Given the description of an element on the screen output the (x, y) to click on. 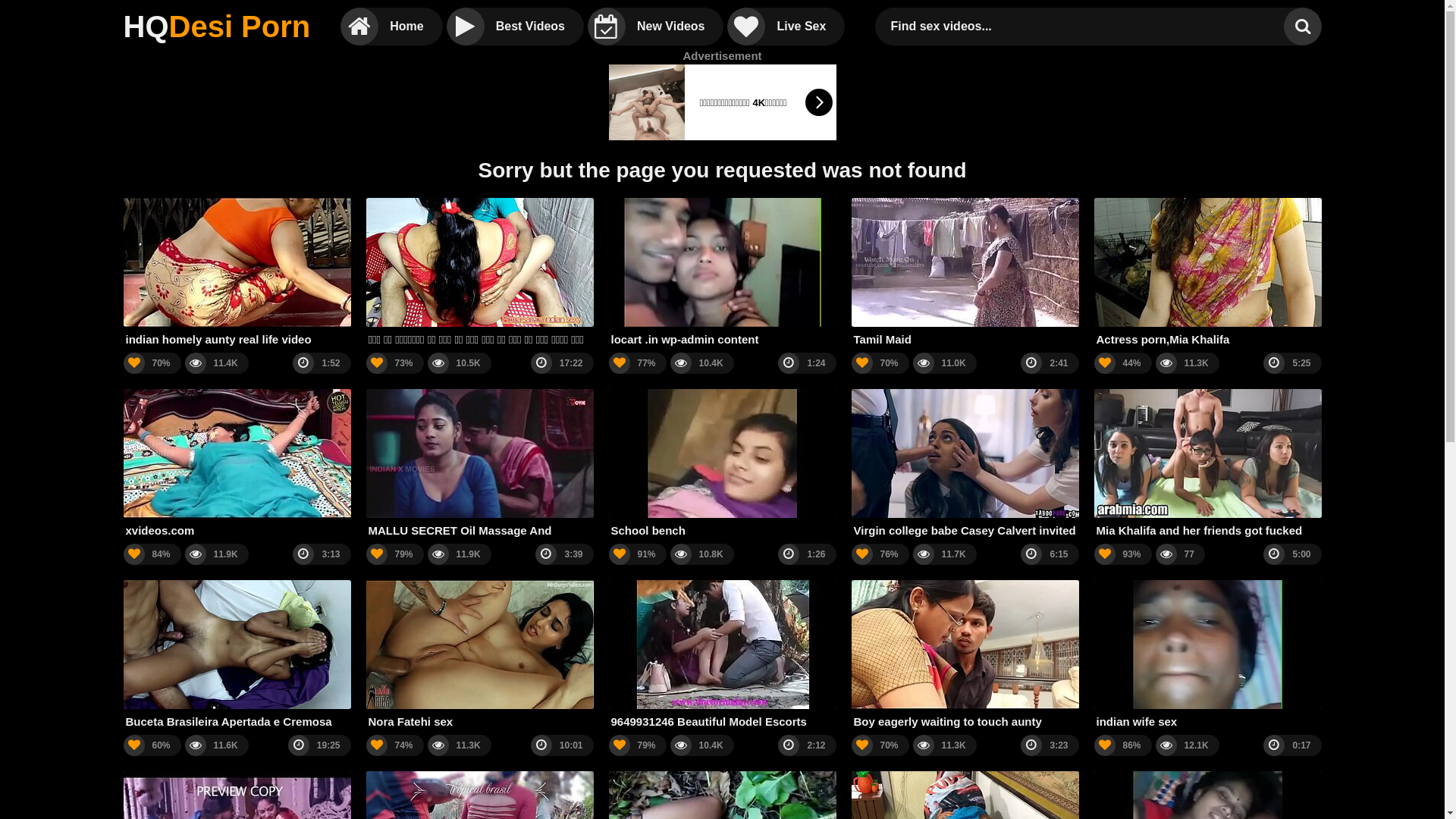
indian wife sex Element type: text (1207, 654)
Nora Fatehi sex Element type: text (479, 654)
xvideos.com ae3d96ab58bc771b11acdea2b29a89a0 Element type: text (236, 463)
New Videos Element type: text (655, 26)
Home Element type: text (391, 26)
Search Element type: hover (1302, 26)
Best Videos Element type: text (514, 26)
Tamil Maid Element type: text (964, 272)
Actress porn,Mia Khalifa Element type: text (1207, 272)
School bench Element type: text (721, 463)
9649931246 Beautiful Model Escorts Agency Element type: text (721, 654)
HQDesi Porn Element type: text (216, 26)
Live Sex Element type: text (785, 26)
indian homely aunty real life video Element type: text (236, 272)
locart .in wp-admin content Element type: text (721, 272)
